Given the description of an element on the screen output the (x, y) to click on. 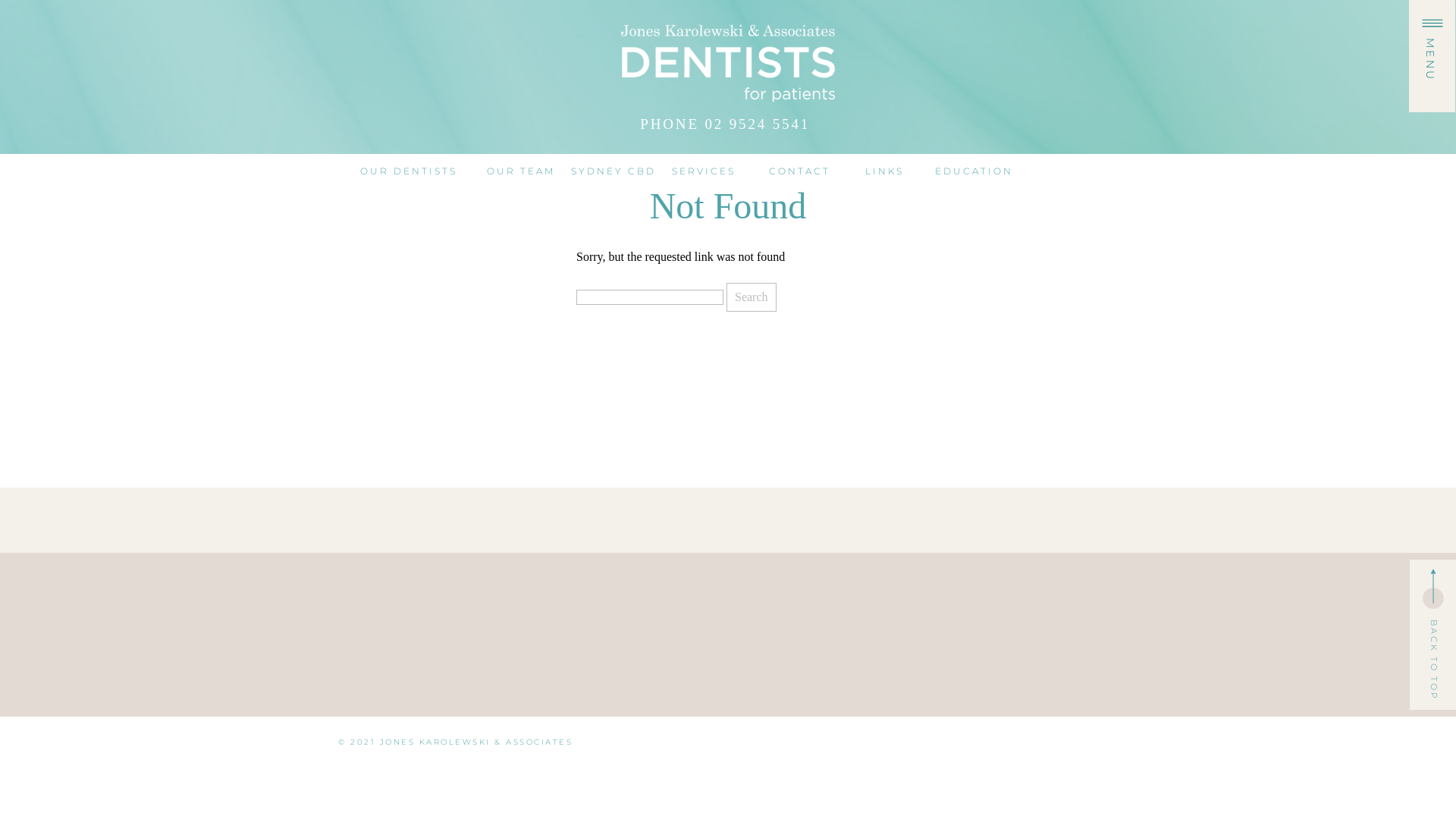
SERVICES Element type: text (703, 169)
OUR TEAM Element type: text (520, 169)
SYDNEY CBD Element type: text (612, 169)
LINKS Element type: text (884, 169)
Search Element type: text (751, 296)
CONTACT Element type: text (799, 169)
OUR DENTISTS Element type: text (408, 169)
EDUCATION Element type: text (973, 172)
